Given the description of an element on the screen output the (x, y) to click on. 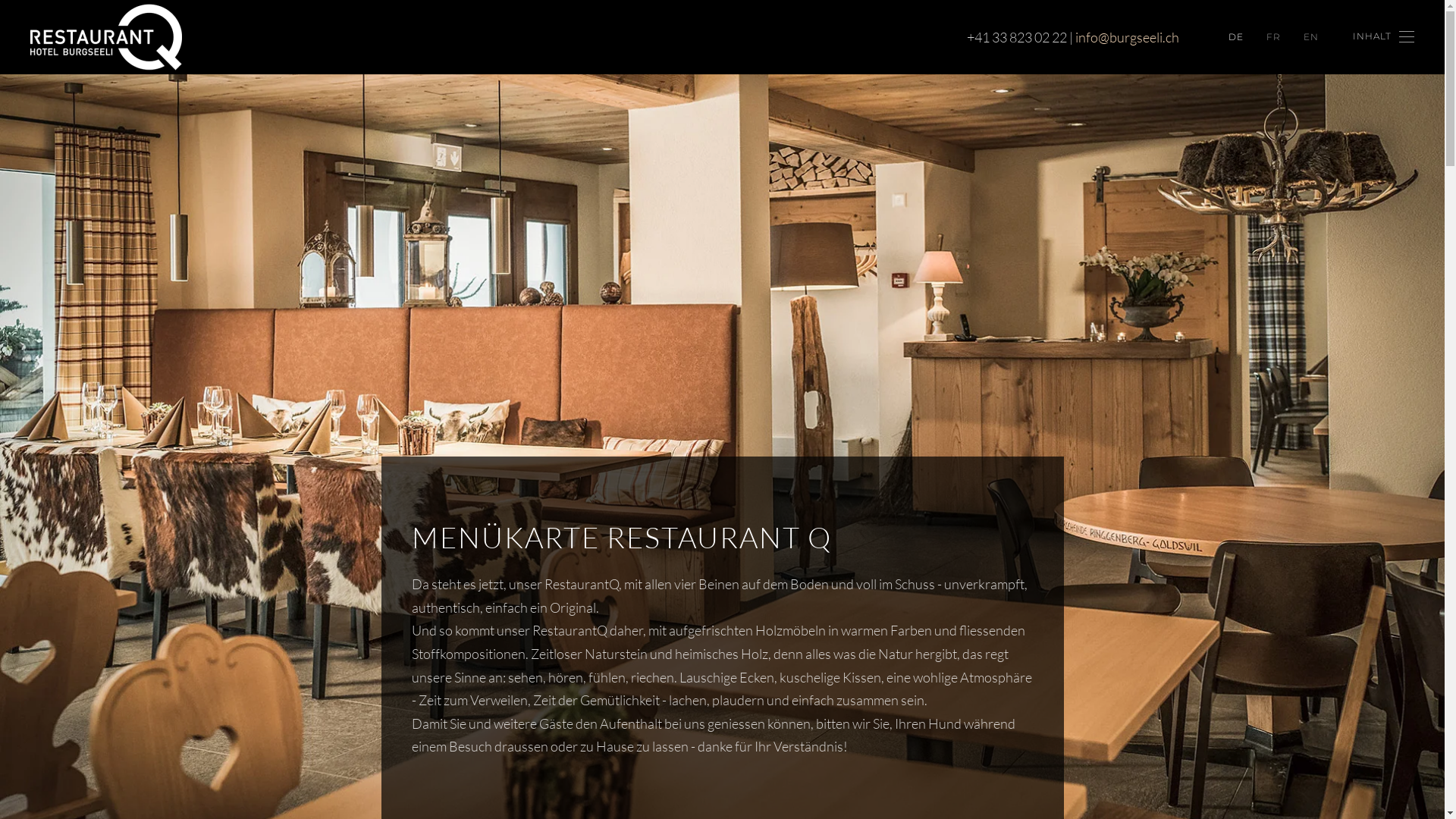
FR Element type: text (1273, 36)
info@burgseeli.ch Element type: text (1127, 36)
DE Element type: text (1235, 36)
EN Element type: text (1310, 36)
